Given the description of an element on the screen output the (x, y) to click on. 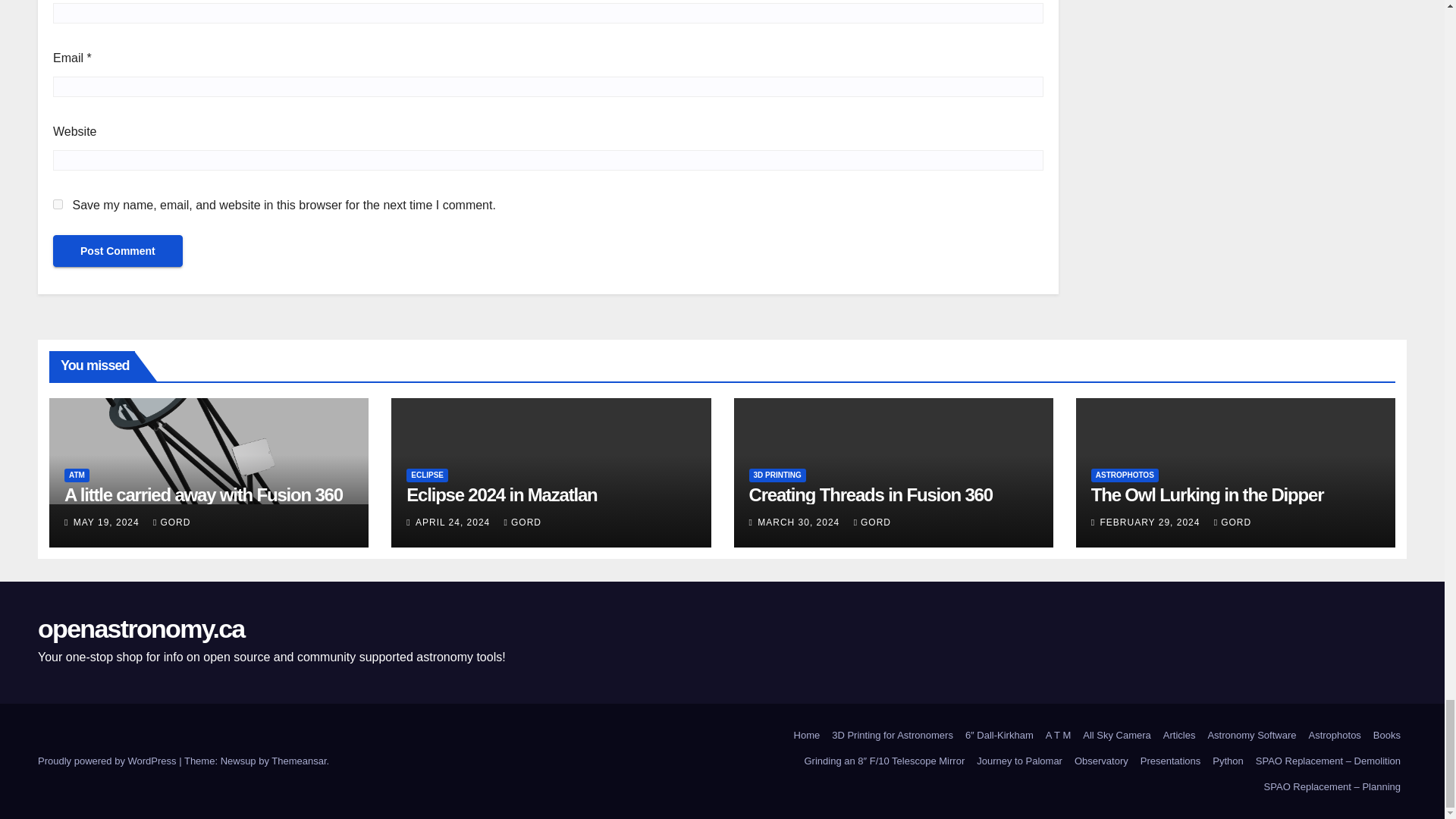
Post Comment (117, 250)
yes (57, 204)
